Given the description of an element on the screen output the (x, y) to click on. 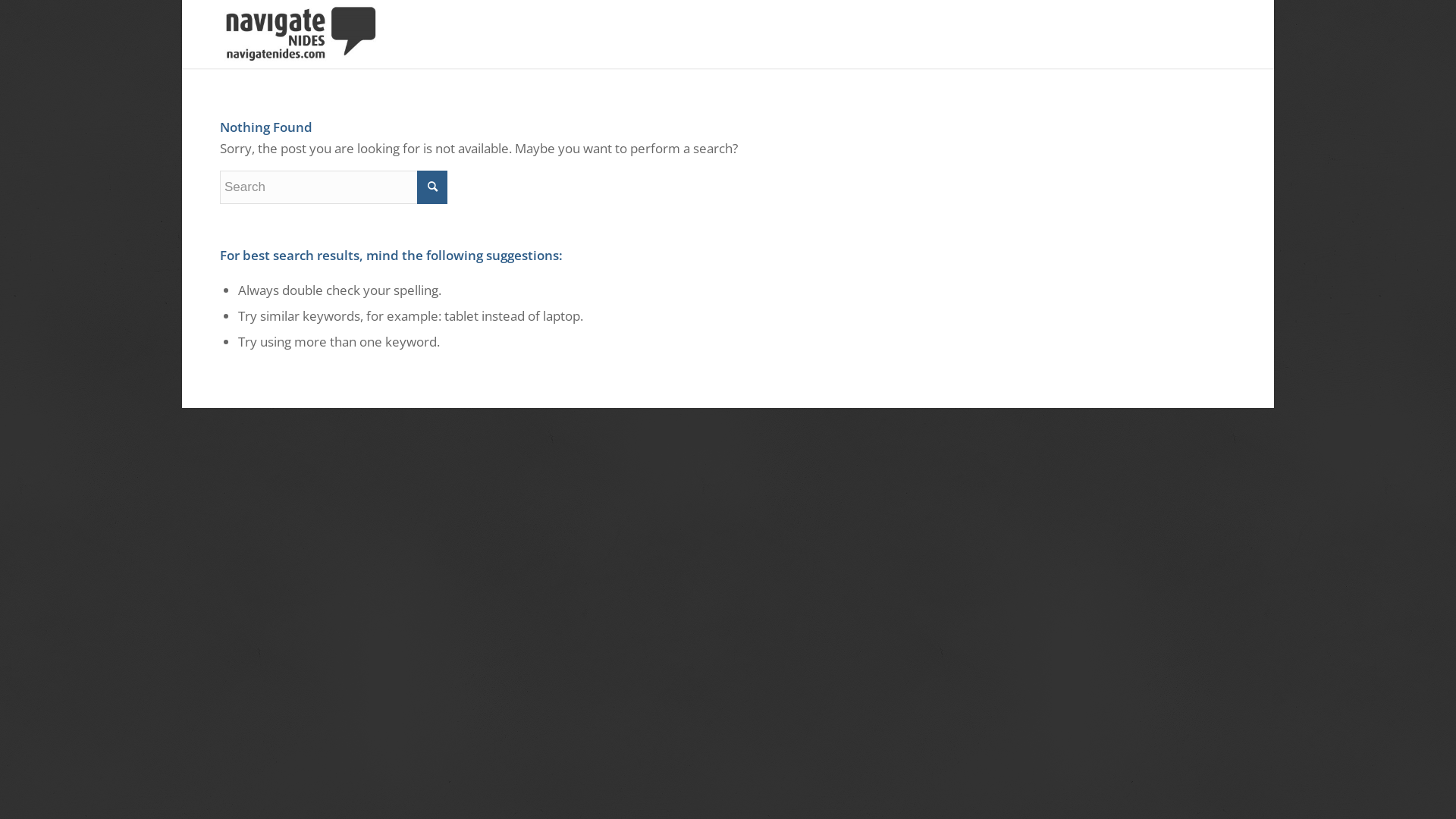
NavigateLogo_Dark Element type: hover (300, 34)
